Given the description of an element on the screen output the (x, y) to click on. 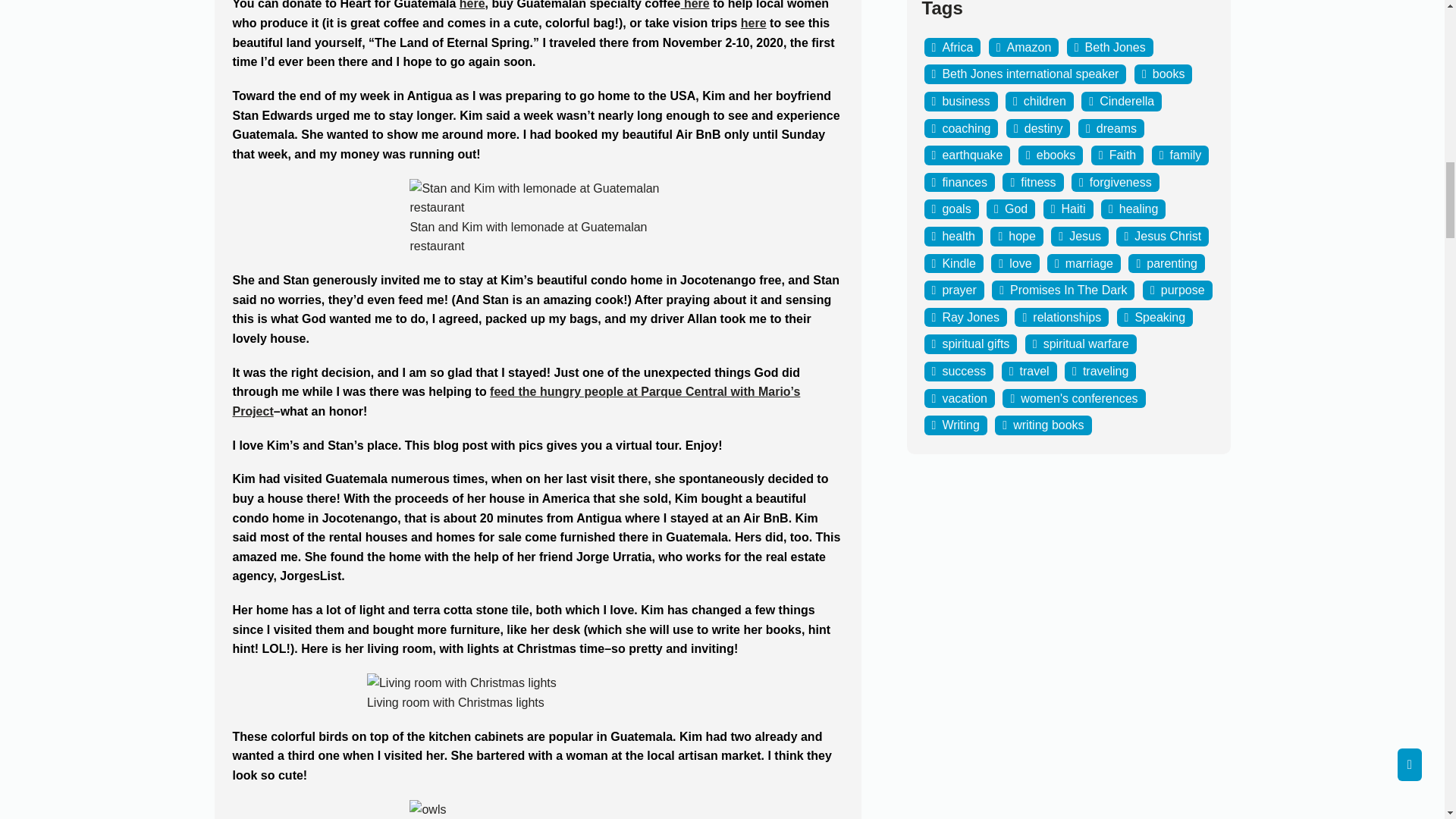
here (694, 4)
here (472, 4)
here (754, 22)
